Given the description of an element on the screen output the (x, y) to click on. 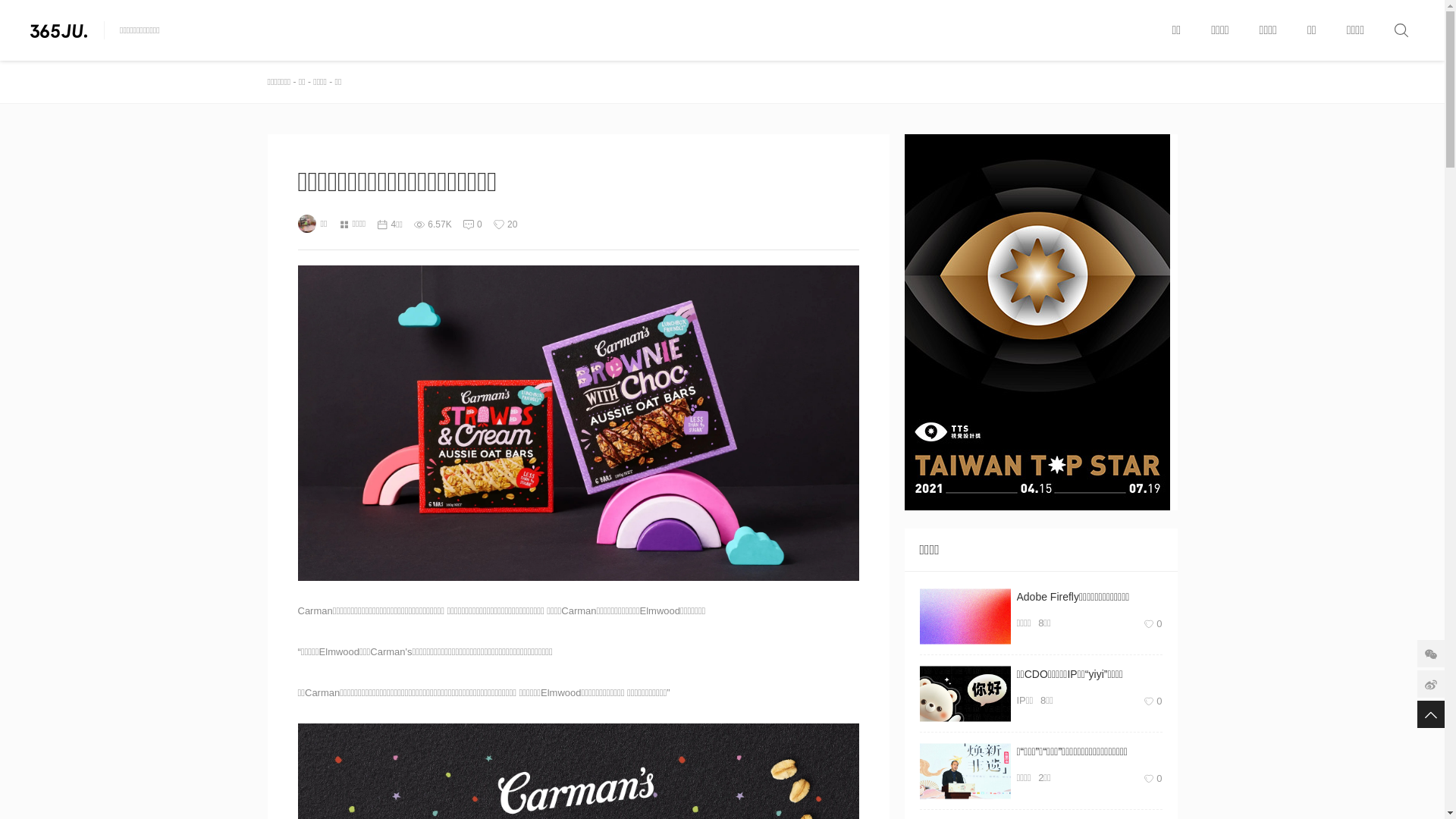
0 Element type: text (479, 224)
